Given the description of an element on the screen output the (x, y) to click on. 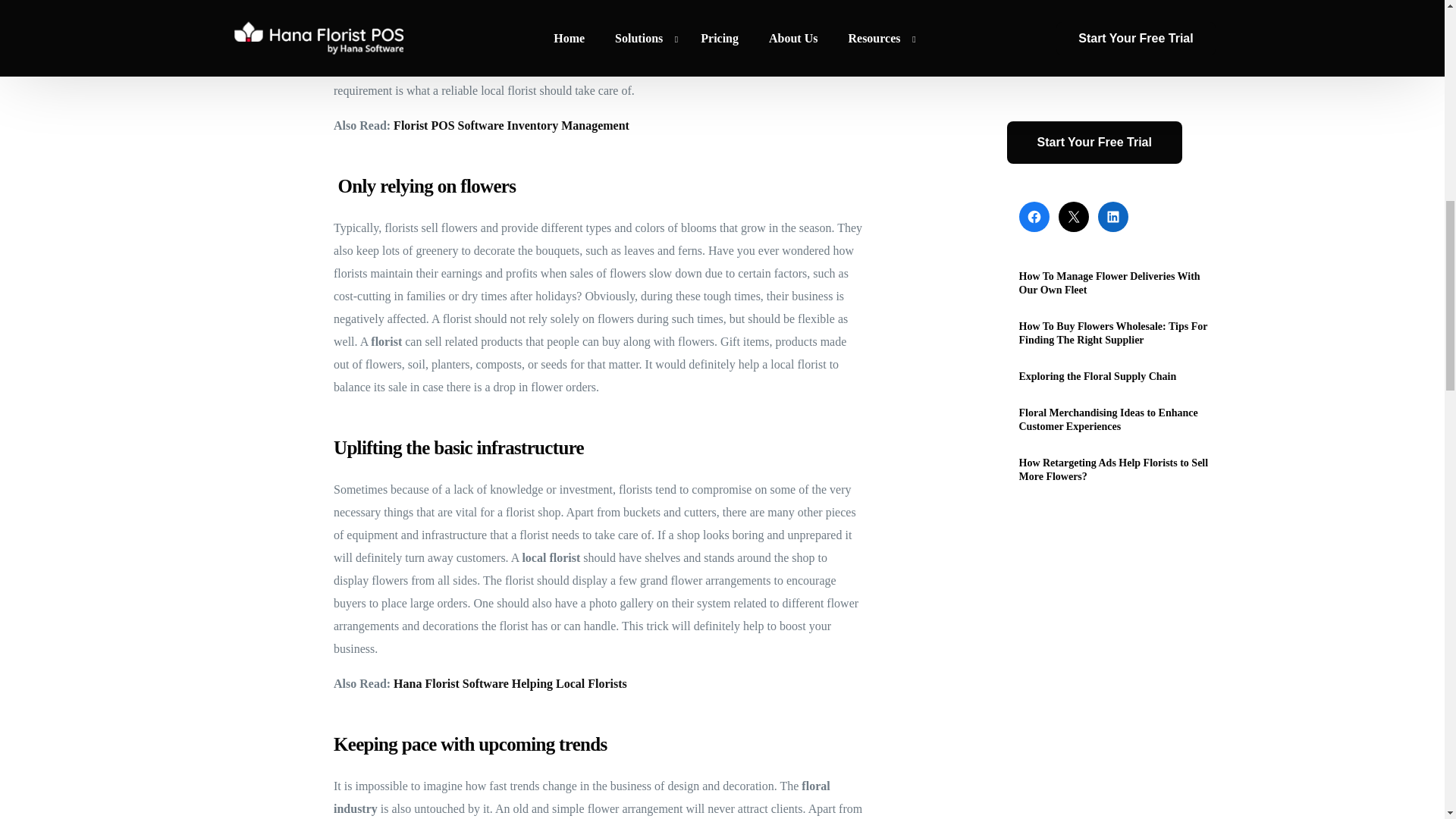
Florist POS Software Inventory Management (510, 124)
How Retargeting Ads Help Florists to Sell More Flowers? (1117, 30)
Hana Florist Software Helping Local Florists (510, 683)
